Given the description of an element on the screen output the (x, y) to click on. 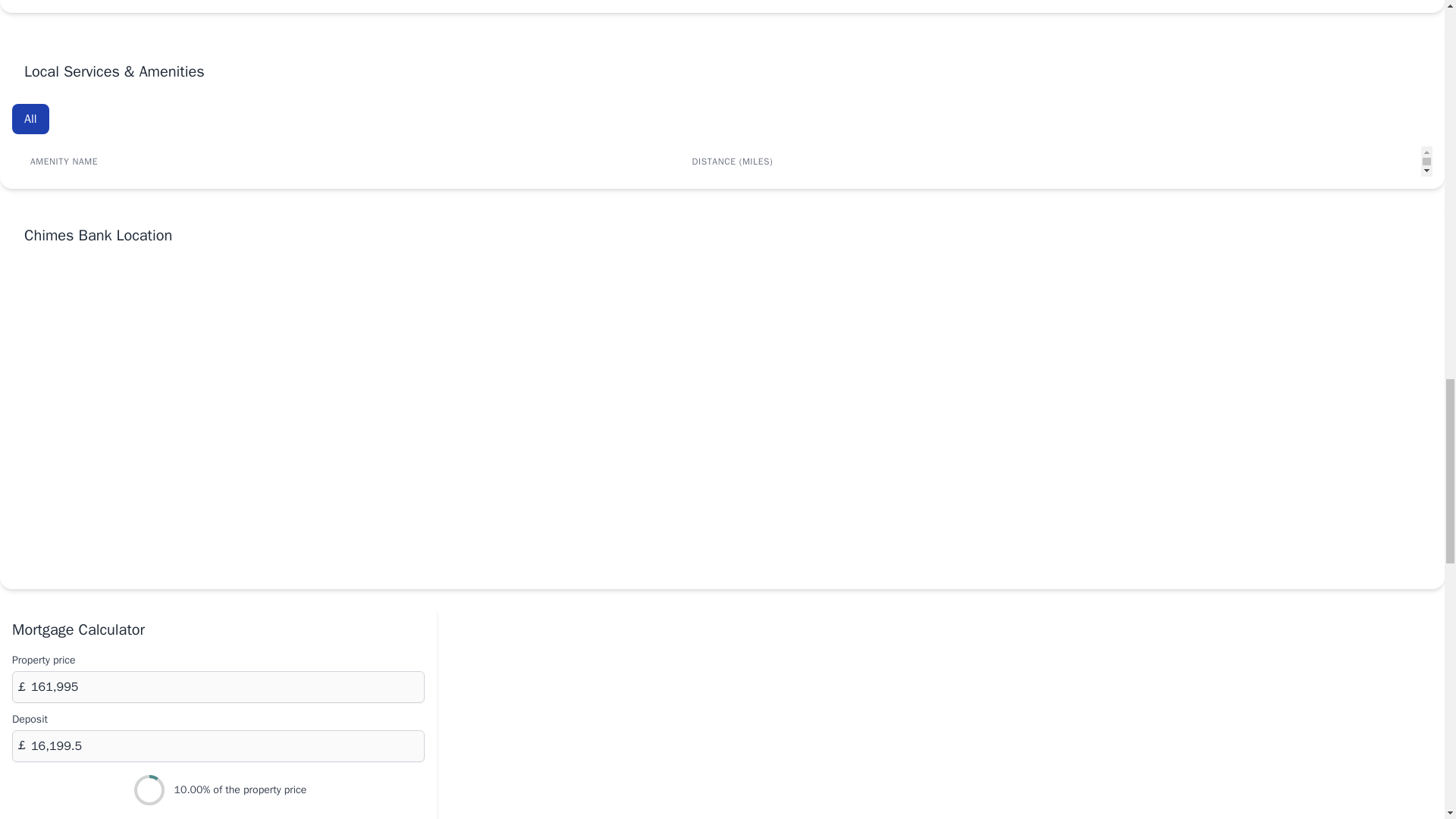
All (30, 119)
16,199.5 (218, 746)
161,995 (218, 686)
